Given the description of an element on the screen output the (x, y) to click on. 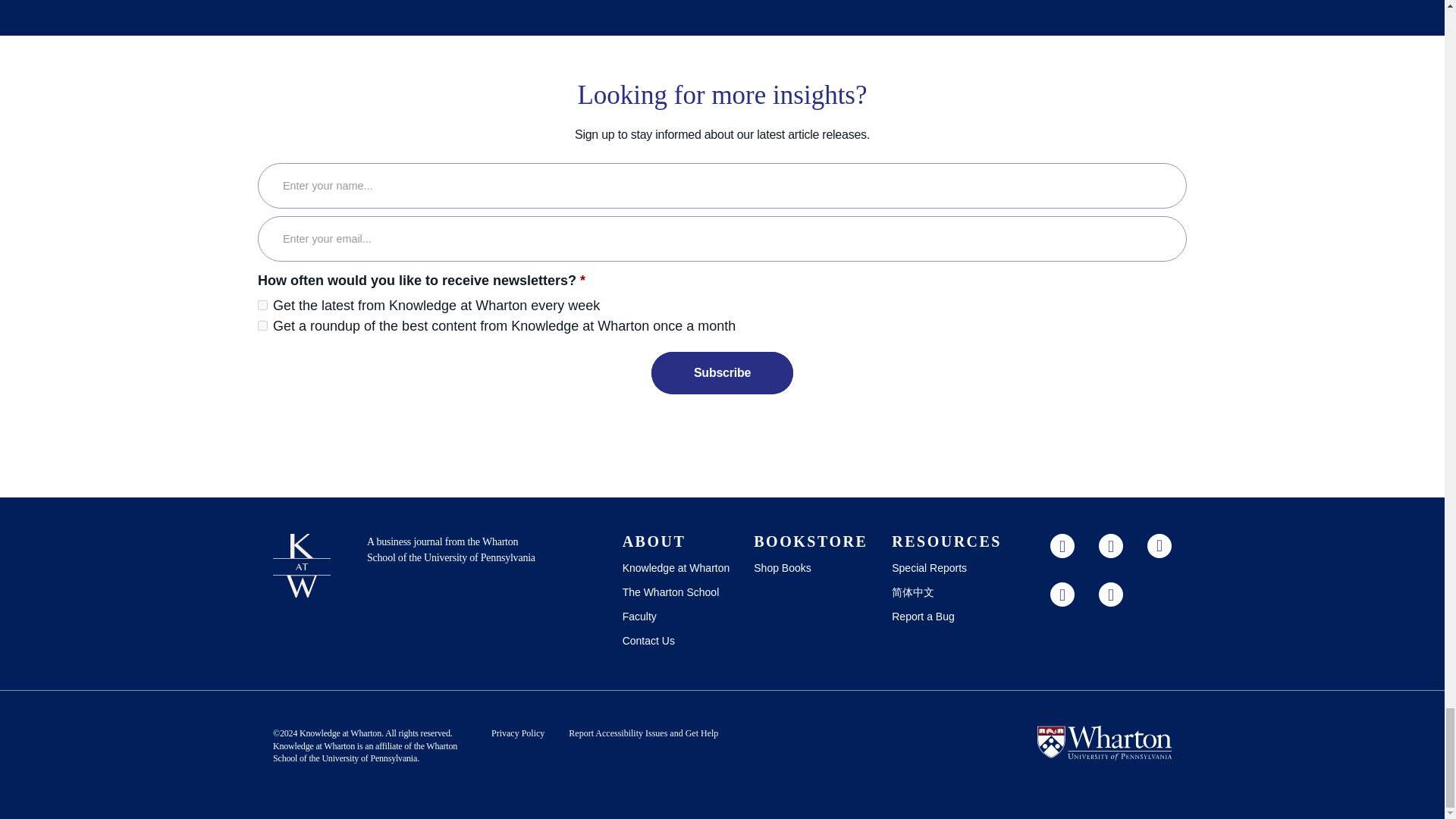
Knowledge at Wharton (314, 746)
Knowledge at Wharton (340, 733)
6825401 (262, 325)
6836382 (262, 305)
